Given the description of an element on the screen output the (x, y) to click on. 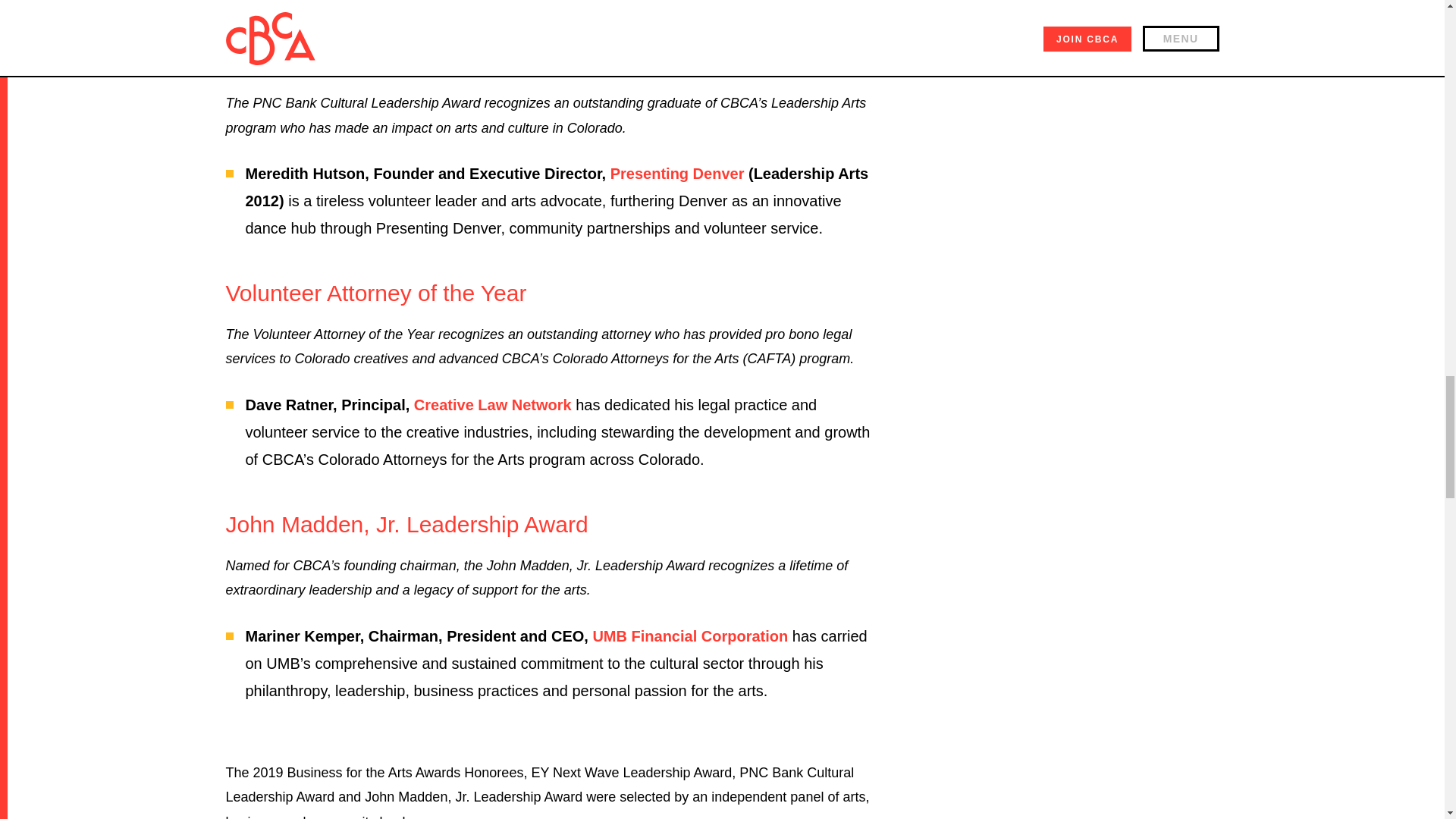
Creative Law Network (492, 404)
Presenting Denver (677, 173)
UMB Financial Corporation (689, 636)
